Given the description of an element on the screen output the (x, y) to click on. 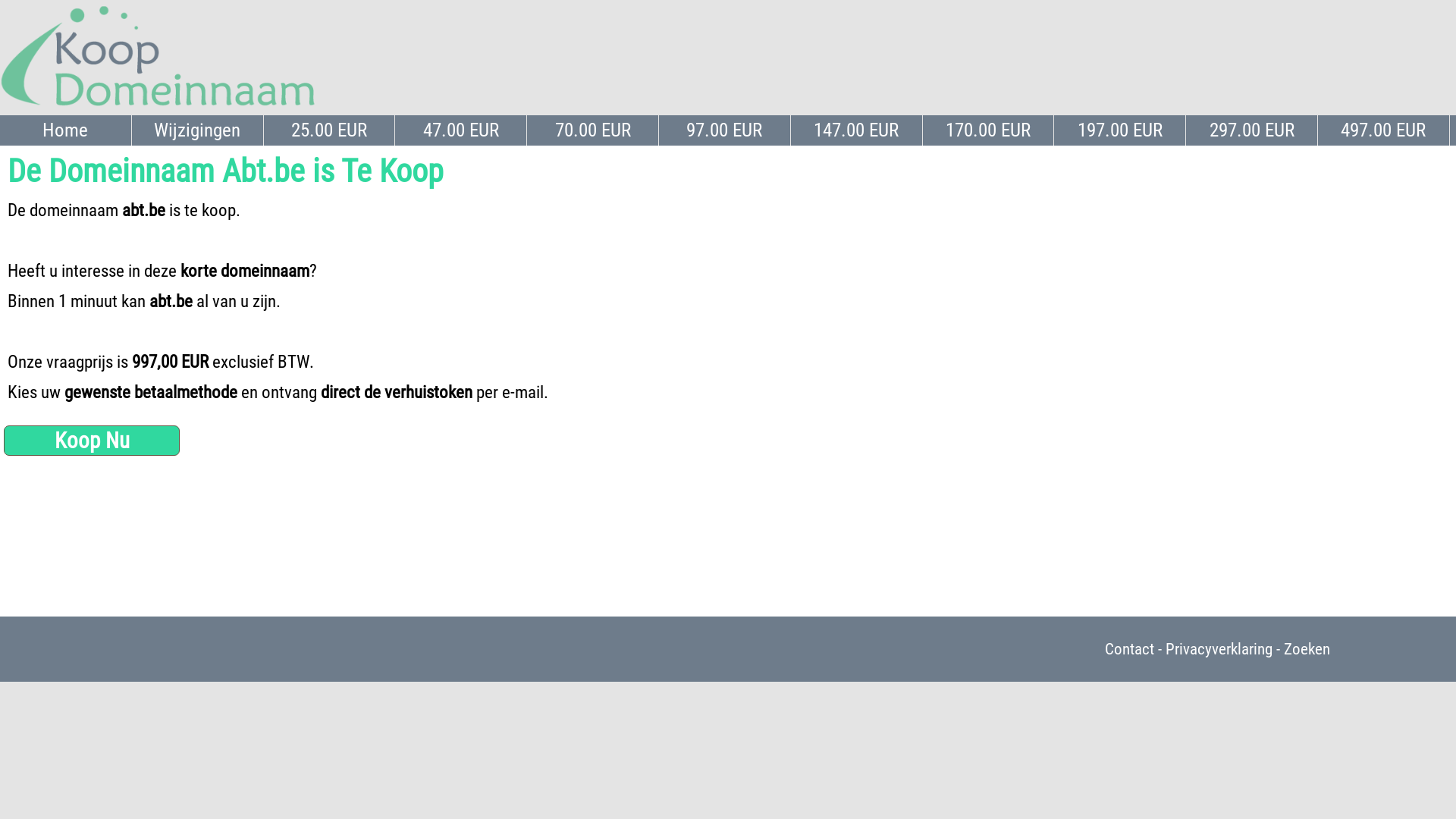
Koop Domeinnaam Element type: hover (158, 108)
Privacyverklaring Element type: text (1218, 649)
70.00 EUR Element type: text (592, 130)
47.00 EUR Element type: text (461, 130)
Koop Nu Element type: text (91, 440)
170.00 EUR Element type: text (988, 130)
Wijzigingen Element type: text (197, 130)
197.00 EUR Element type: text (1120, 130)
Koop Domeinnaam Element type: hover (158, 56)
25.00 EUR Element type: text (329, 130)
147.00 EUR Element type: text (856, 130)
Contact Element type: text (1129, 649)
Zoeken Element type: text (1306, 649)
497.00 EUR Element type: text (1383, 130)
97.00 EUR Element type: text (724, 130)
297.00 EUR Element type: text (1251, 130)
Home Element type: text (65, 130)
